Given the description of an element on the screen output the (x, y) to click on. 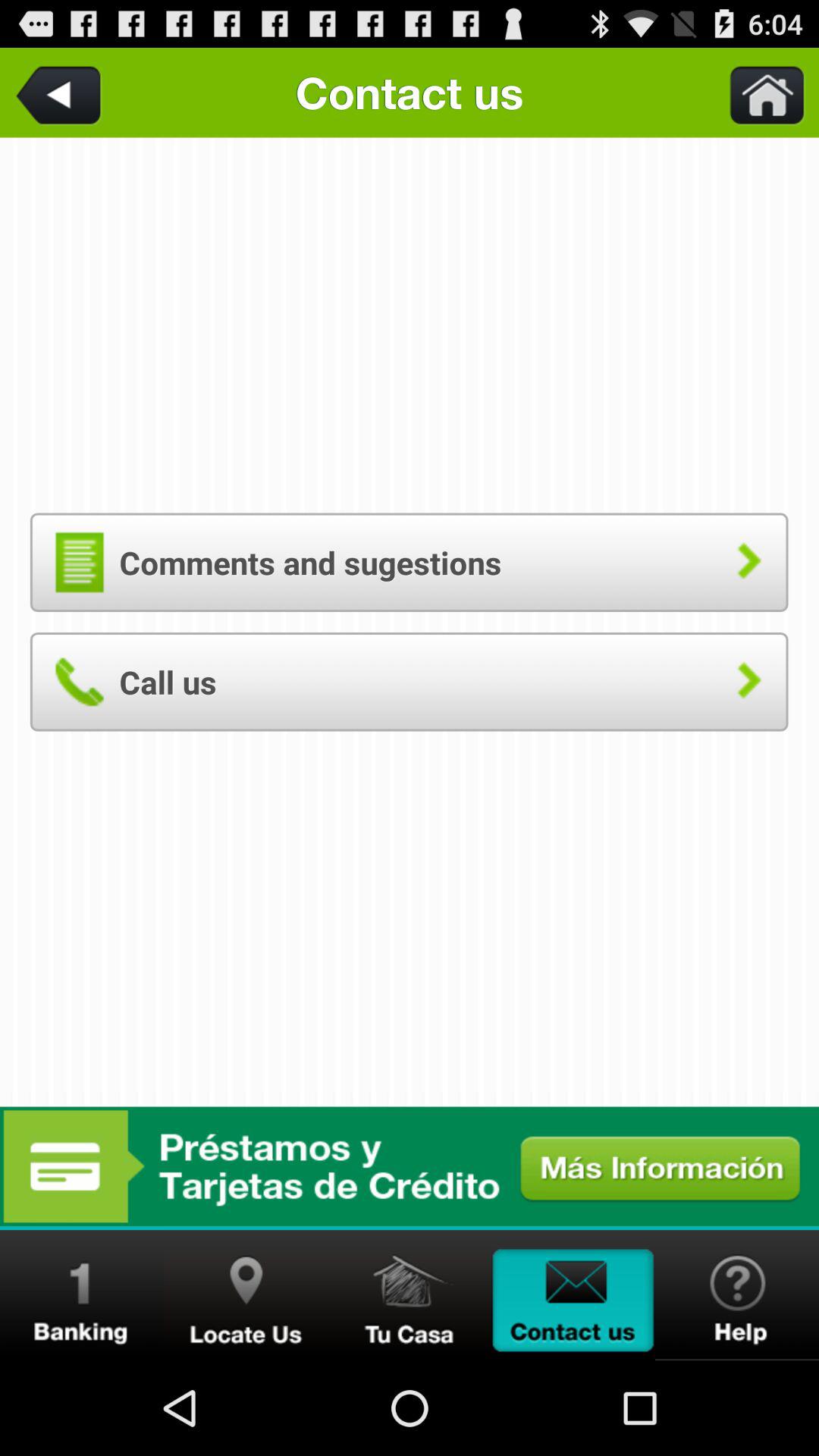
open the item at the top left corner (61, 92)
